Given the description of an element on the screen output the (x, y) to click on. 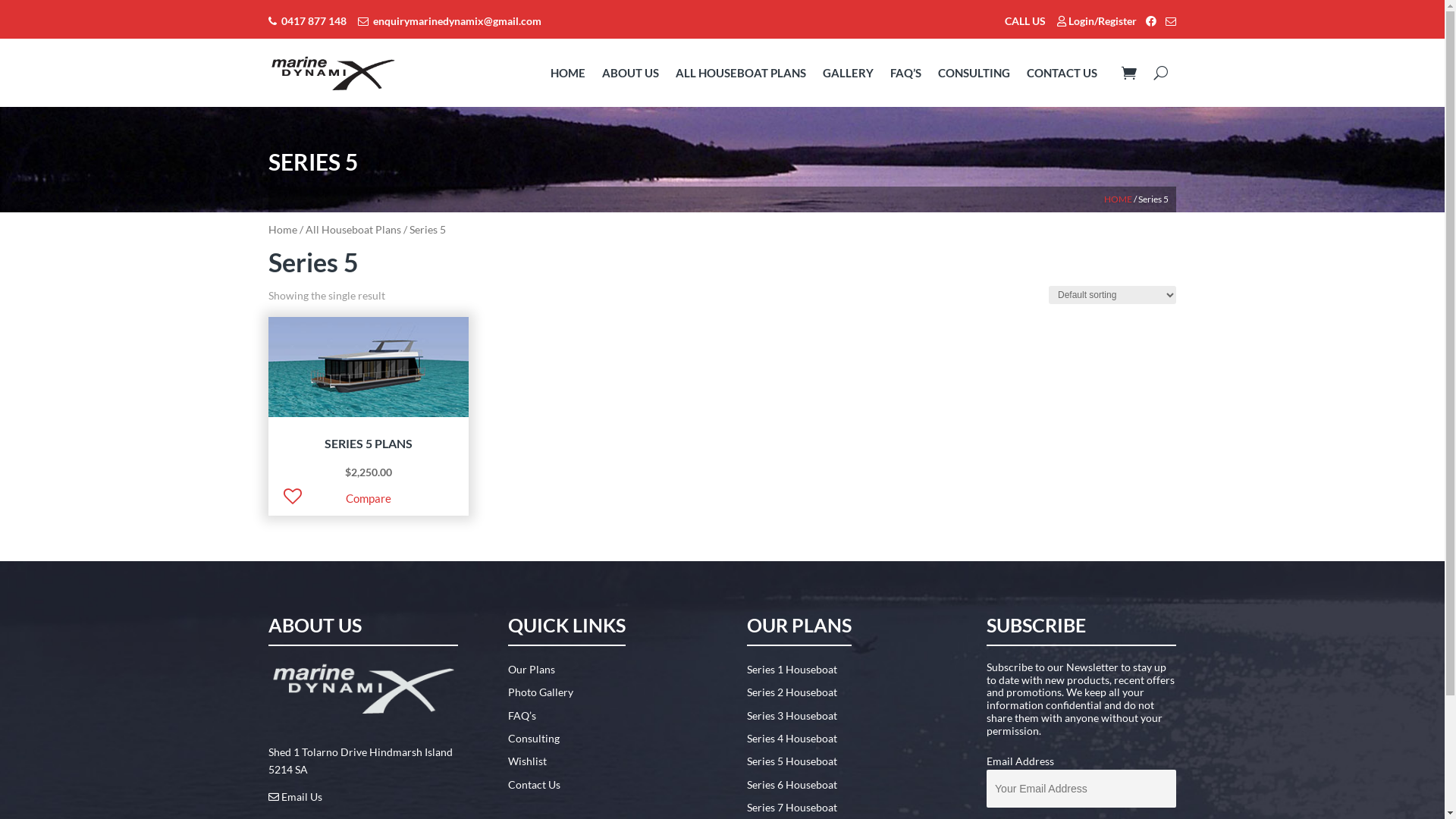
SERIES 5 PLANS
$2,250.00 Element type: text (368, 414)
Series 6 Houseboat Element type: text (791, 784)
HOME Element type: text (567, 72)
Email Us Element type: text (295, 796)
All Houseboat Plans Element type: text (353, 228)
CONTACT US        Element type: text (1069, 72)
  0417 877 148 Element type: text (307, 20)
Contact Us Element type: text (534, 784)
CONSULTING Element type: text (974, 72)
Series 3 Houseboat Element type: text (791, 715)
Series 2 Houseboat Element type: text (791, 691)
Our Plans Element type: text (531, 668)
  enquirymarinedynamix@gmail.com Element type: text (449, 20)
Compare Element type: text (368, 498)
ALL HOUSEBOAT PLANS Element type: text (740, 72)
Series 5 Houseboat Element type: text (791, 760)
 Login/Register Element type: text (1096, 20)
Consulting Element type: text (533, 737)
GALLERY Element type: text (847, 72)
Photo Gallery Element type: text (540, 691)
Series 1 Houseboat Element type: text (791, 668)
CALL US Element type: text (1024, 20)
Home Element type: text (282, 228)
Wishlist Element type: text (527, 760)
Series 7 Houseboat Element type: text (791, 806)
HOME Element type: text (1118, 198)
ABOUT US Element type: text (630, 72)
Series 4 Houseboat Element type: text (791, 737)
